Given the description of an element on the screen output the (x, y) to click on. 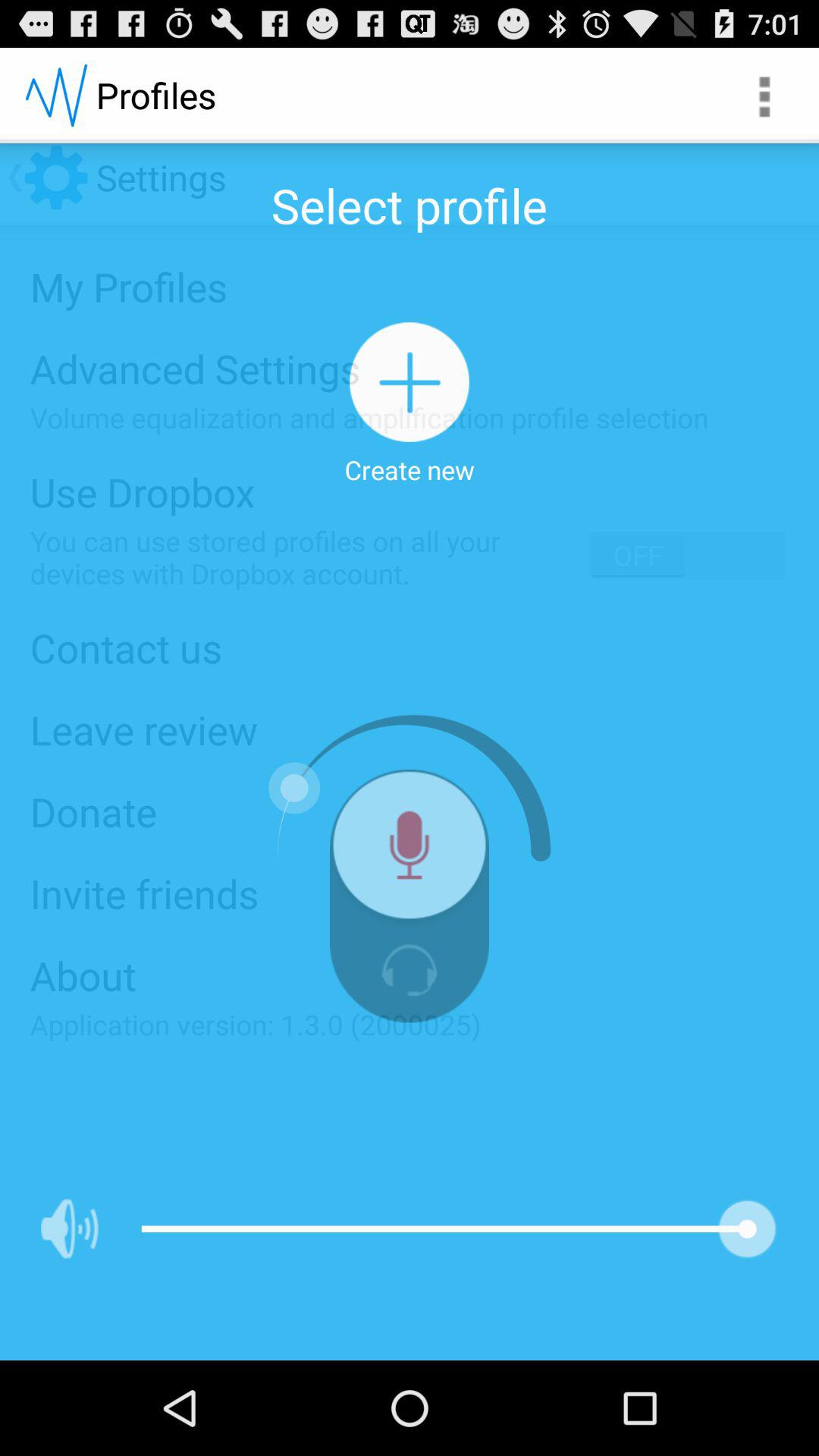
click to voice search (409, 851)
